Given the description of an element on the screen output the (x, y) to click on. 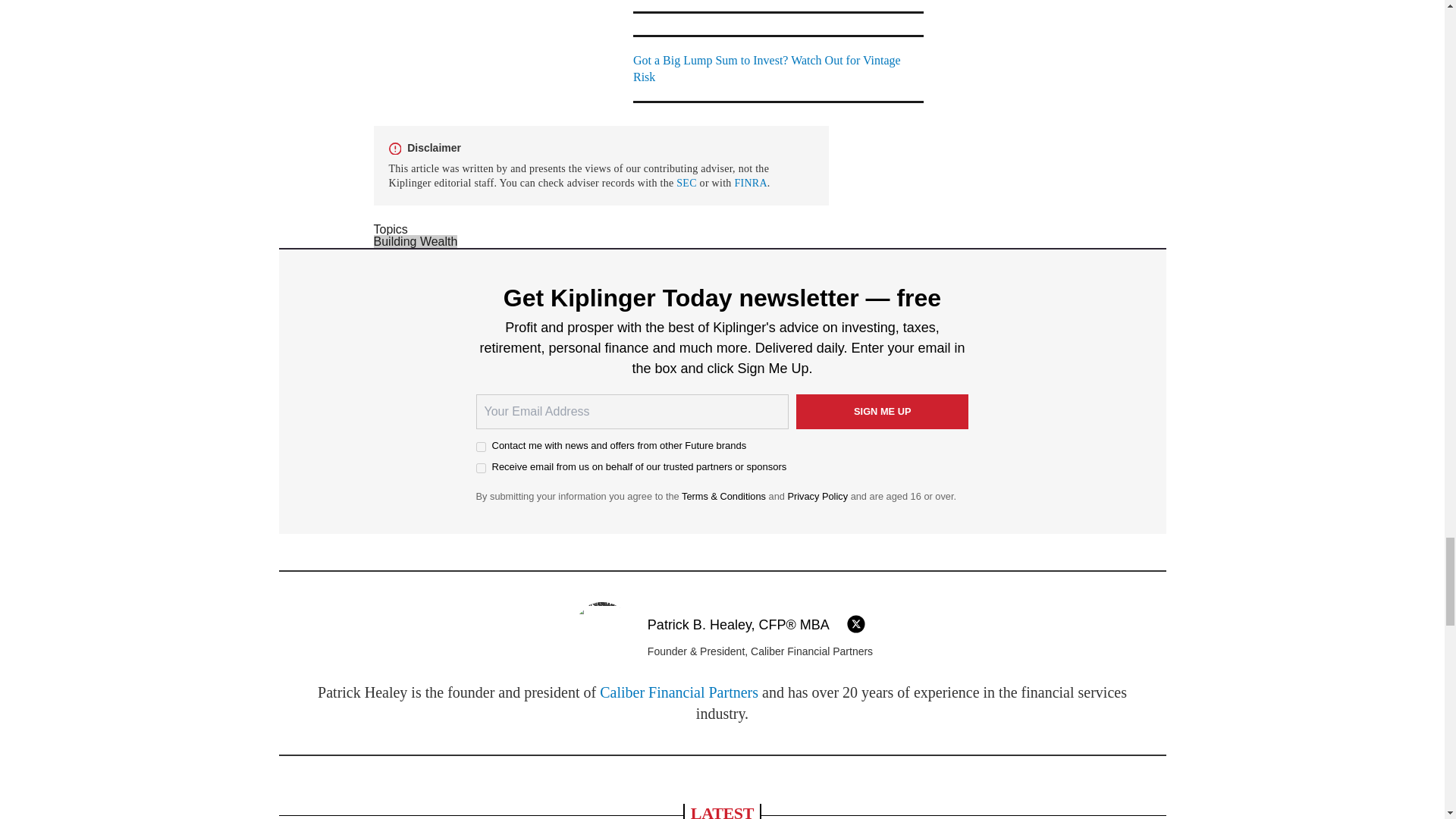
on (481, 447)
Sign me up (882, 411)
on (481, 468)
